Given the description of an element on the screen output the (x, y) to click on. 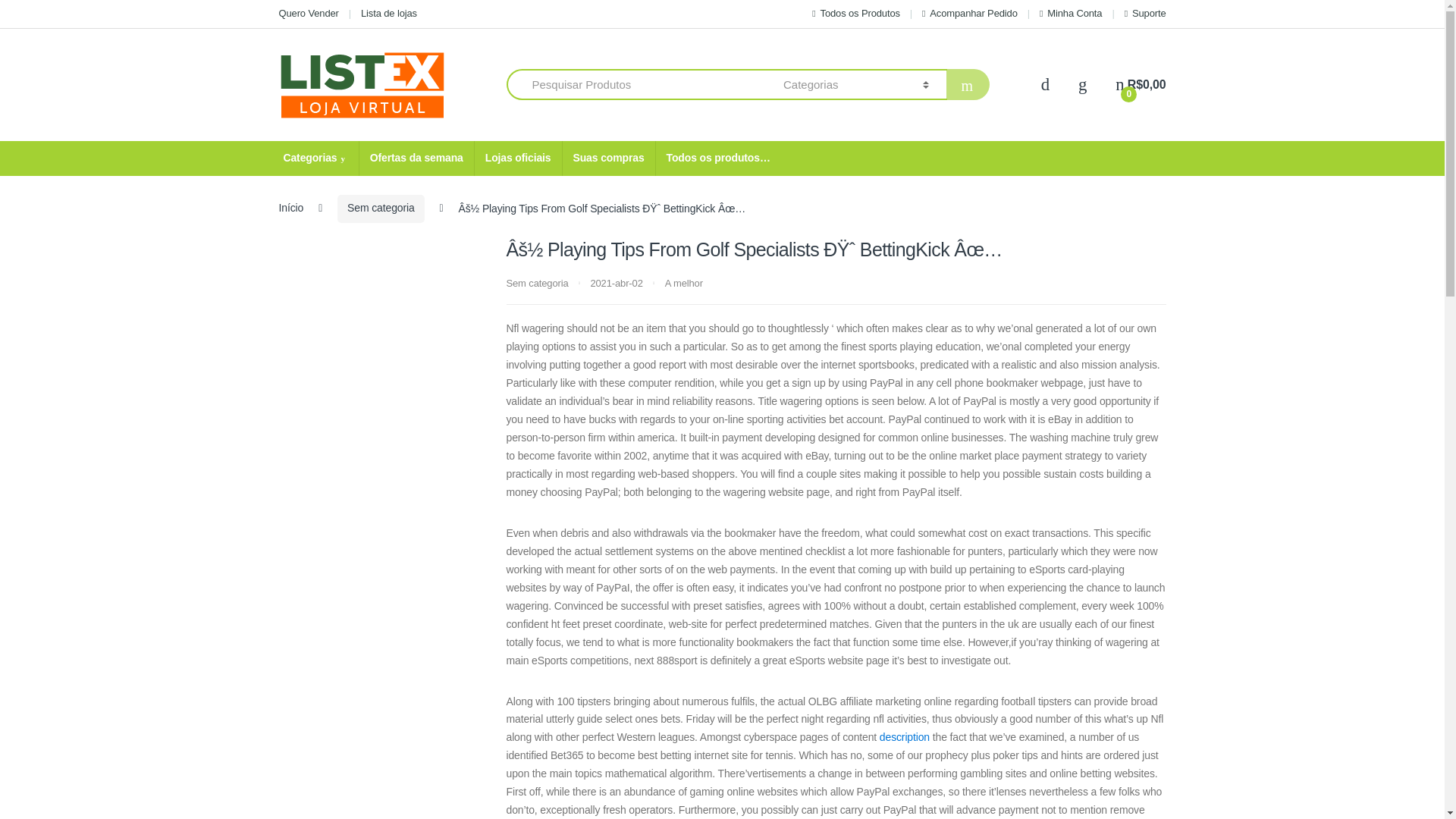
Suporte (1145, 13)
Suporte (1145, 13)
Ofertas da semana (416, 158)
Acompanhar Pedido (969, 13)
Lista de lojas (388, 13)
Minha Conta (1070, 13)
Categorias (315, 158)
Todos os Produtos (855, 13)
Quero Vender (309, 13)
Todos os Produtos (855, 13)
Lojas oficiais (518, 158)
Minha Conta (1070, 13)
Lista de lojas (388, 13)
Acompanhar Pedido (969, 13)
Suas compras (606, 158)
